Given the description of an element on the screen output the (x, y) to click on. 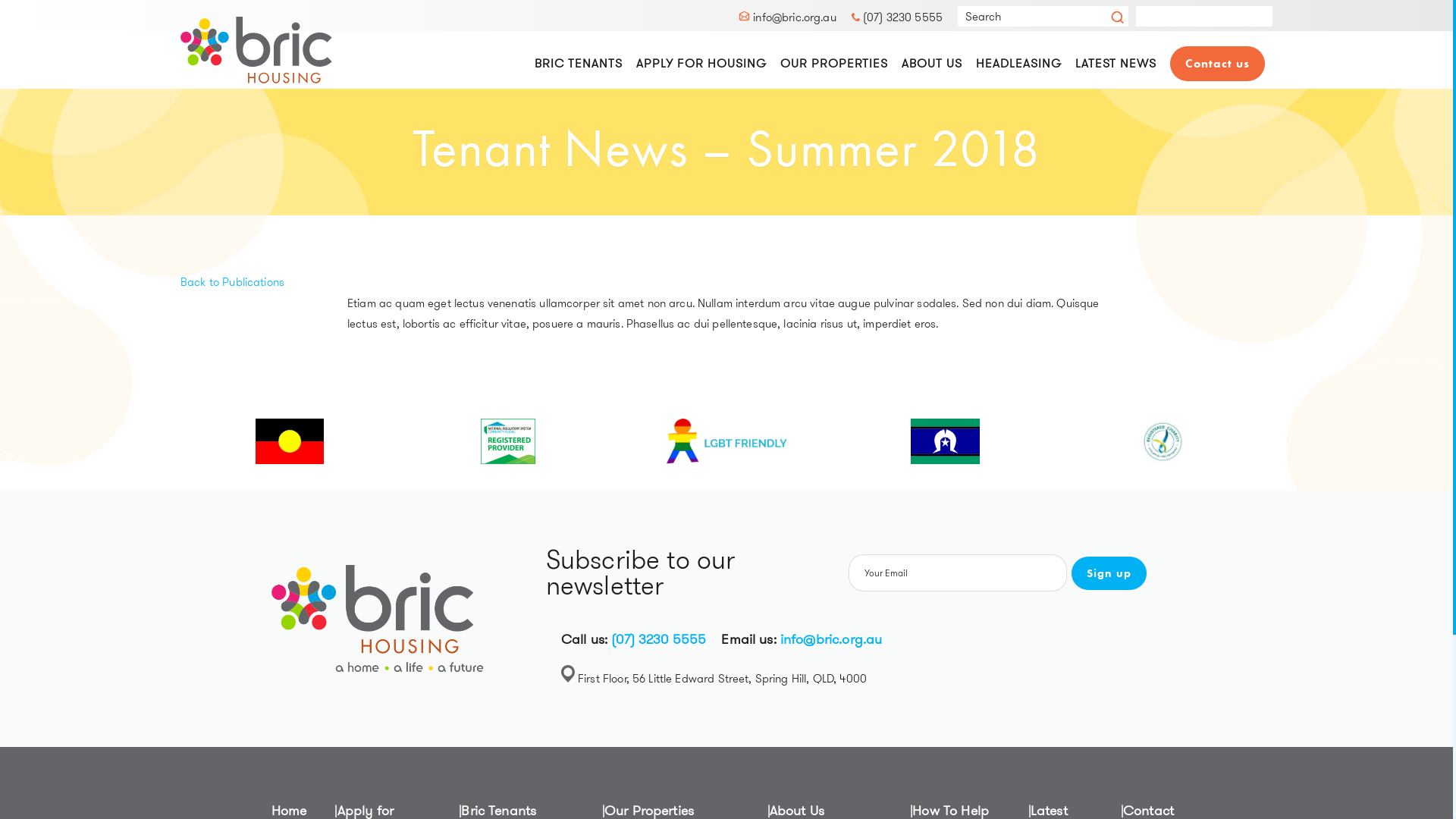
Back to Publications Element type: text (232, 281)
info@bric.org.au Element type: text (787, 17)
ABOUT US Element type: text (931, 63)
APPLY FOR HOUSING Element type: text (701, 63)
(07) 3230 5555 Element type: text (658, 639)
LATEST NEWS Element type: text (1115, 63)
HEADLEASING Element type: text (1018, 63)
BRIC TENANTS Element type: text (578, 63)
info@bric.org.au Element type: text (830, 639)
OUR PROPERTIES Element type: text (834, 63)
(07) 3230 5555 Element type: text (896, 17)
Contact us Element type: text (1217, 63)
Sign up Element type: text (1108, 572)
First Floor, 56 Little Edward Street, Spring Hill, QLD, 4000 Element type: text (721, 678)
